Given the description of an element on the screen output the (x, y) to click on. 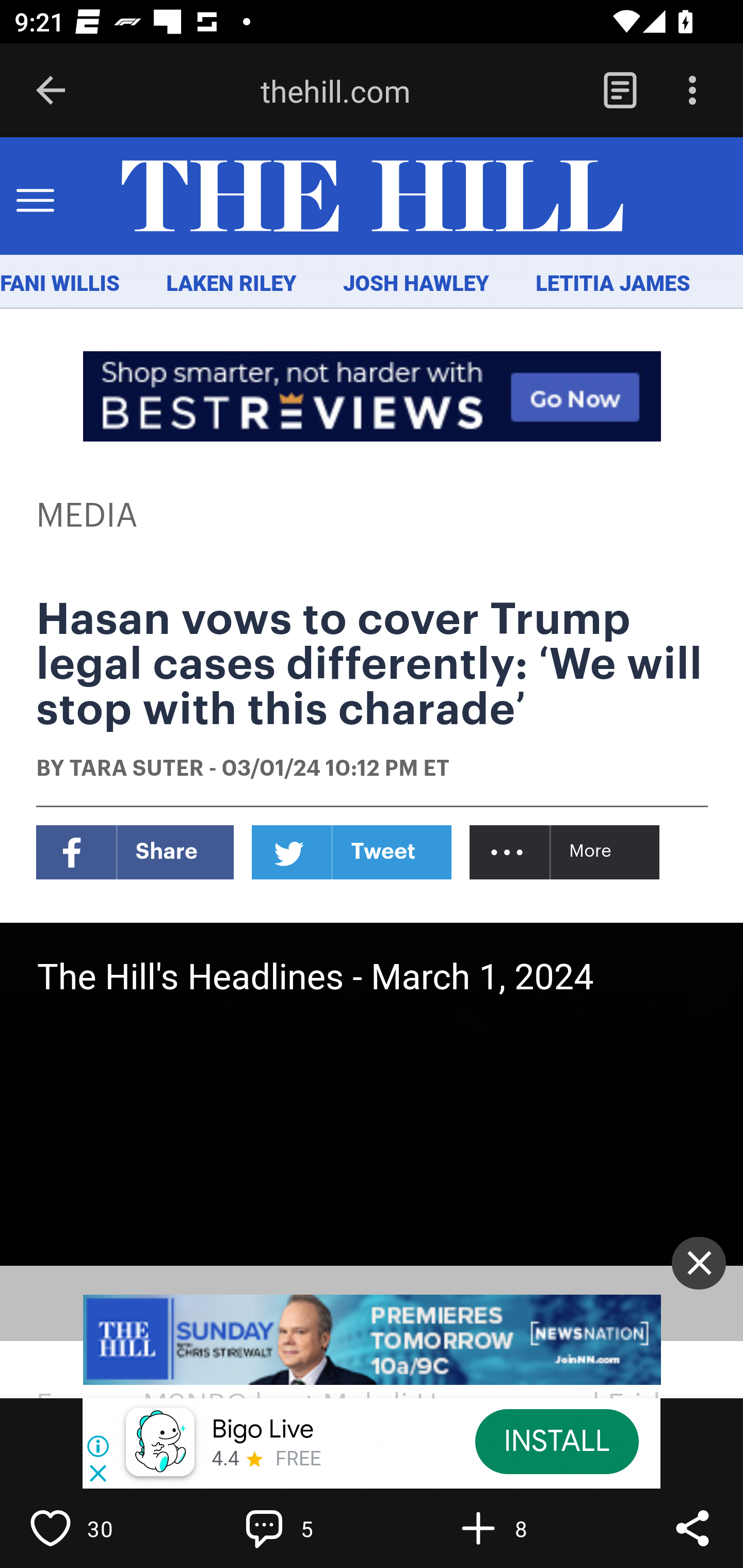
Back (50, 90)
Reader View (619, 90)
Options (692, 90)
Toggle Menu (34, 196)
TheHill.com (371, 196)
FANI WILLIS (60, 284)
LAKEN RILEY (231, 284)
JOSH HAWLEY (414, 284)
LETITIA JAMES (612, 284)
MEDIA (87, 516)
TARA SUTER (135, 769)
Facebook Share Facebook Share (135, 852)
Twitter Tweet Twitter Tweet (352, 852)
... More (565, 852)
✕ (699, 1262)
channel-finder (372, 1339)
INSTALL (556, 1441)
Bigo Live (262, 1429)
Like 30 (93, 1528)
Write a comment… 5 (307, 1528)
Flip into Magazine 8 (521, 1528)
Share (692, 1528)
